Given the description of an element on the screen output the (x, y) to click on. 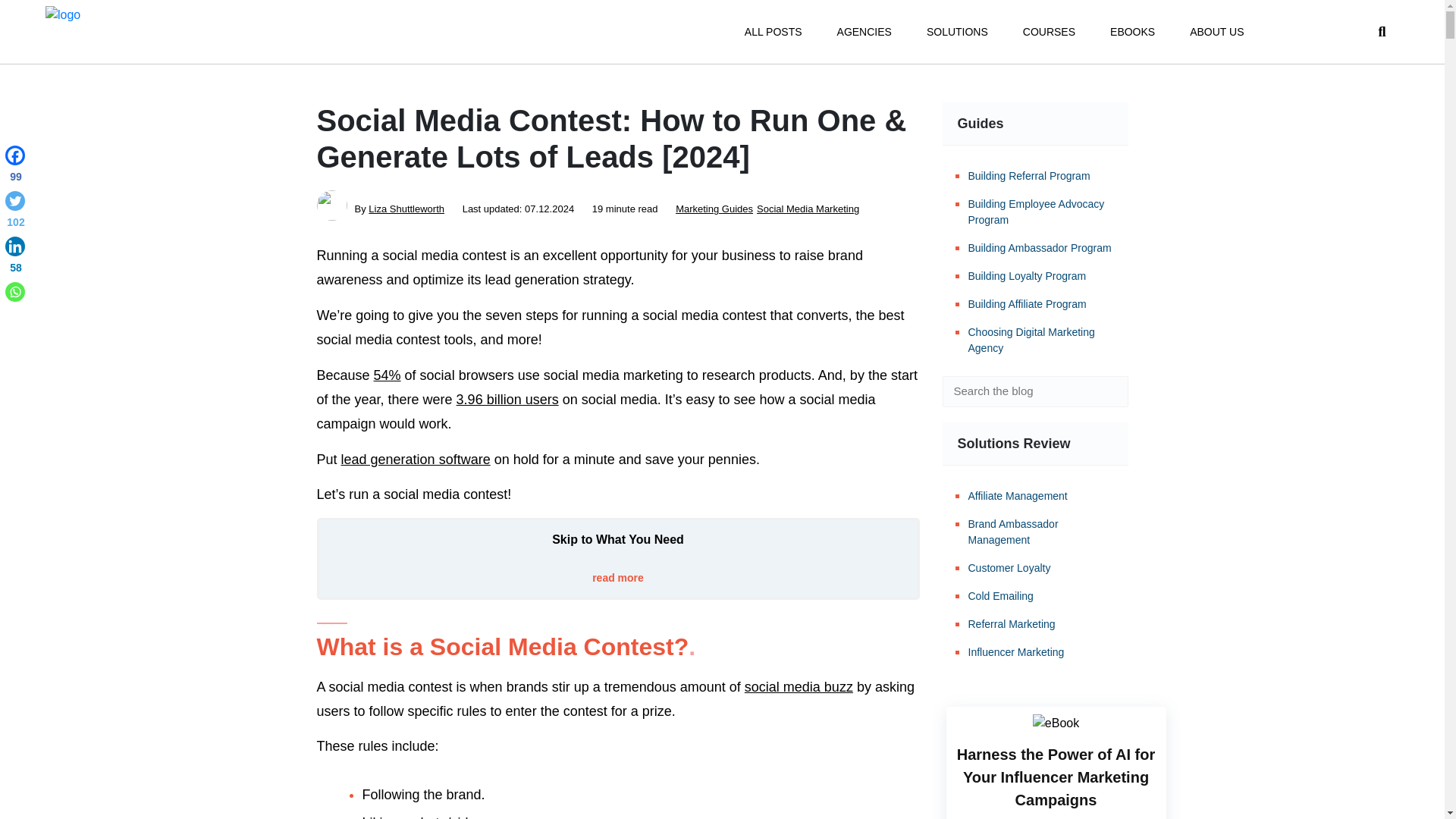
Linkedin (14, 257)
SOLUTIONS (957, 31)
Search (1105, 391)
Twitter (14, 211)
Whatsapp (14, 291)
Facebook (14, 166)
AGENCIES (864, 31)
ALL POSTS (772, 31)
Search (1105, 391)
